Given the description of an element on the screen output the (x, y) to click on. 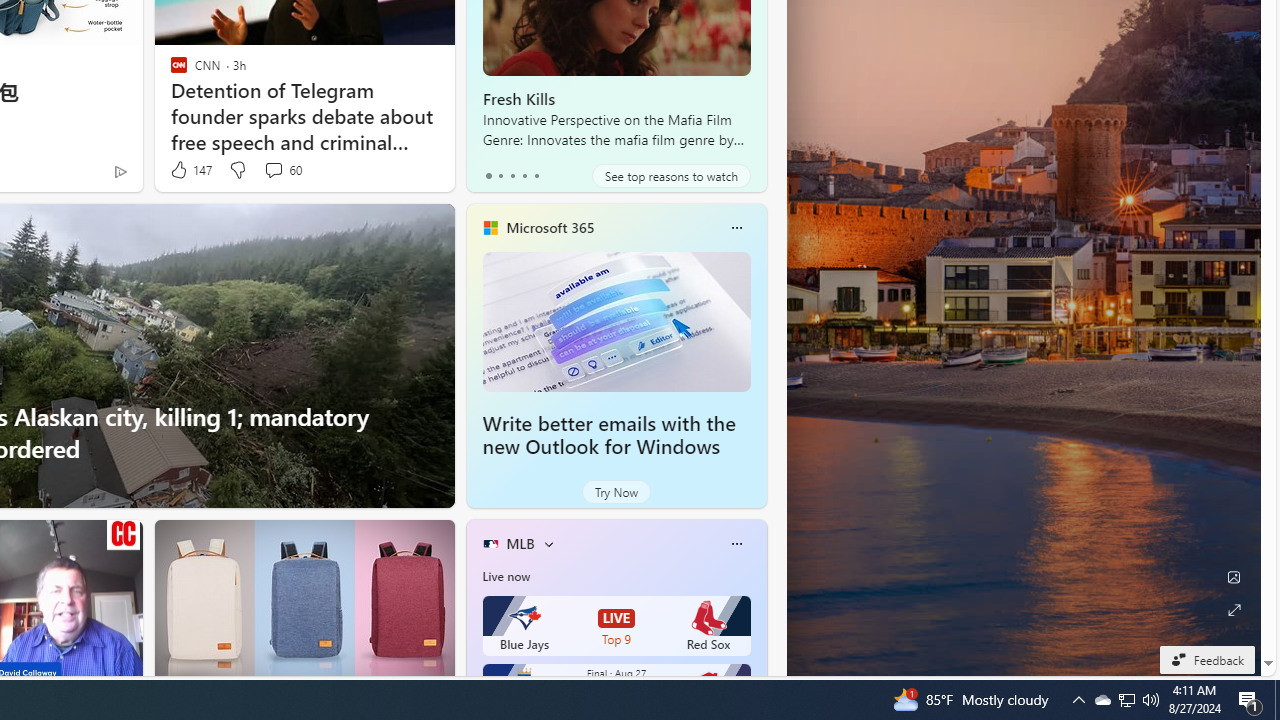
Expand background (1233, 610)
Blue Jays LIVE Top 9 Red Sox (616, 625)
tab-1 (500, 175)
Edit Background (1233, 577)
Class: icon-img (736, 543)
Write better emails with the new Outlook for Windows (609, 435)
Write better emails with the new Outlook for Windows (616, 321)
